Given the description of an element on the screen output the (x, y) to click on. 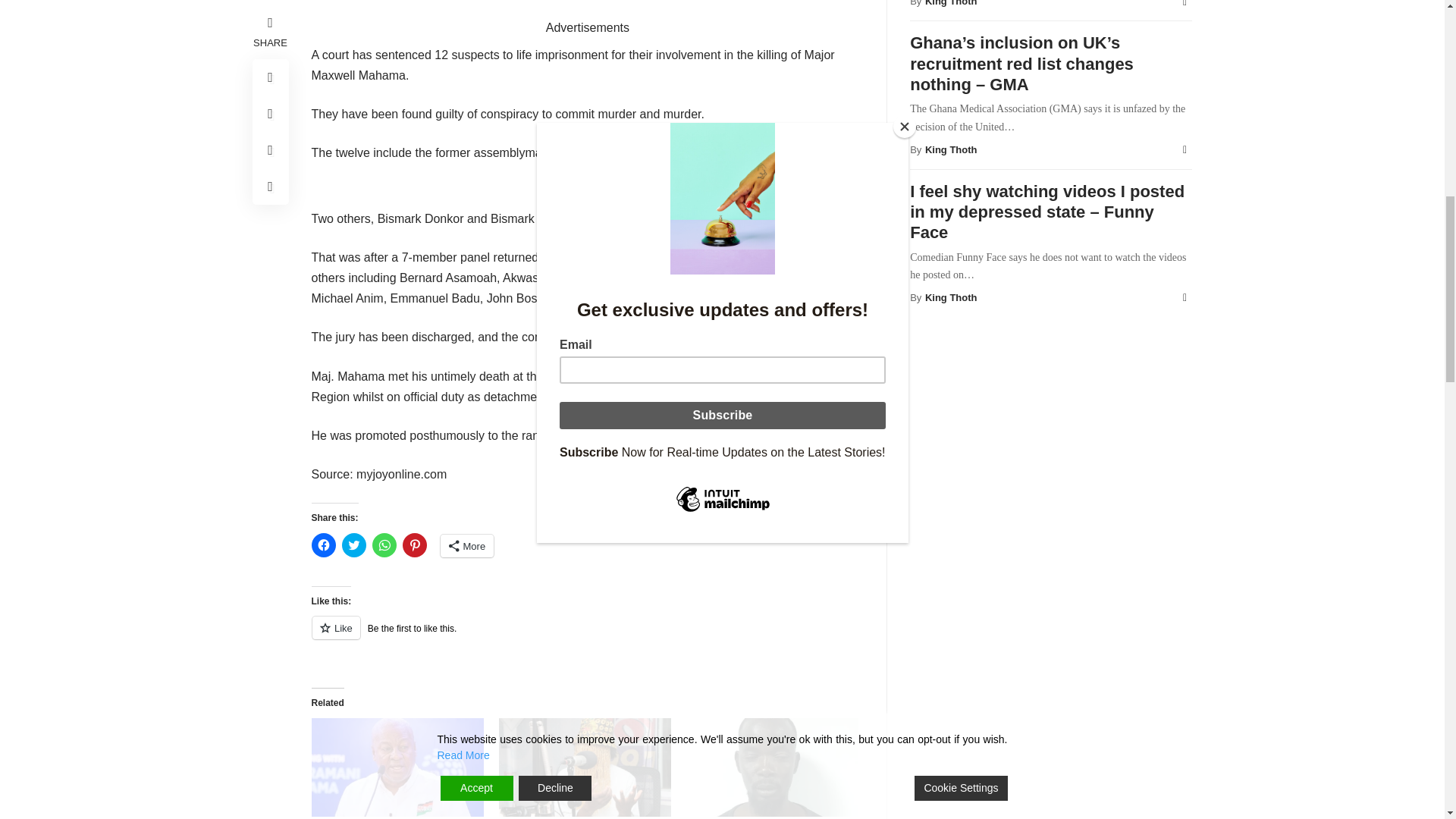
Like or Reblog (587, 636)
Click to share on Facebook (322, 545)
Click to share on Pinterest (413, 545)
Click to share on Twitter (352, 545)
Click to share on WhatsApp (383, 545)
